Given the description of an element on the screen output the (x, y) to click on. 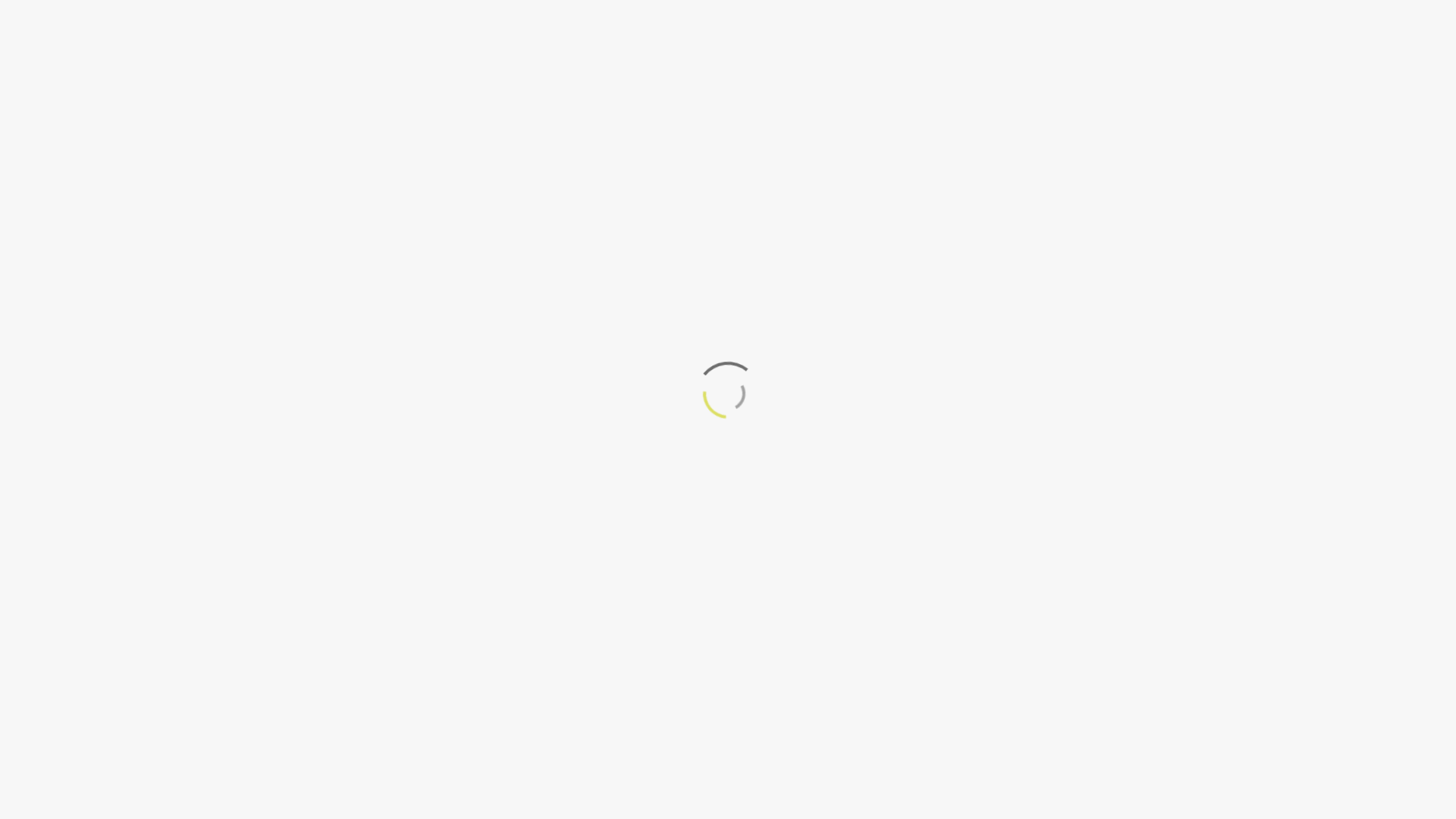
PREVIOUS PROJECT
Figtree Private Hospital Element type: text (364, 592)
BACK TO PORTFOLIO Element type: text (727, 385)
